Given the description of an element on the screen output the (x, y) to click on. 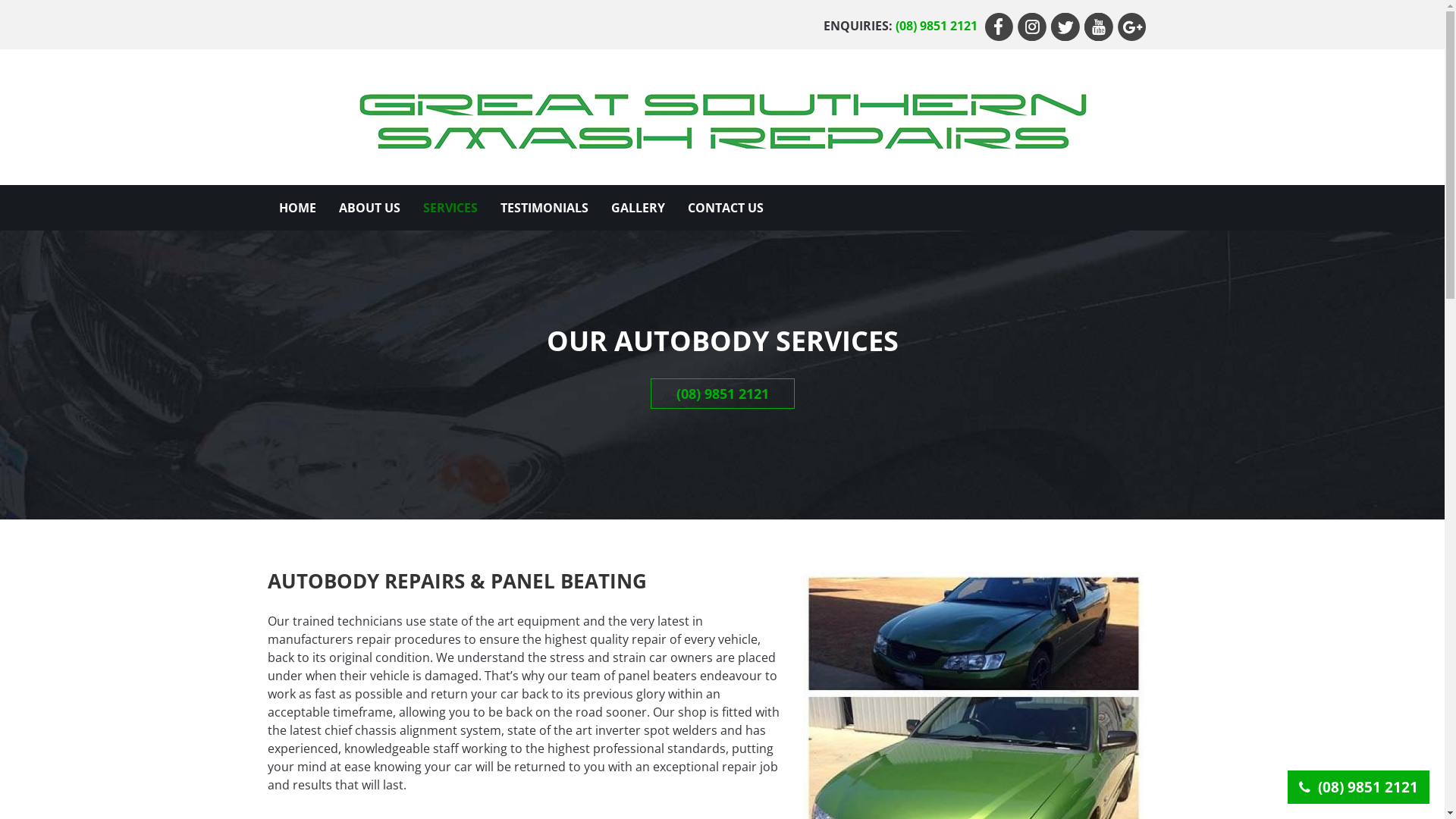
ABOUT US Element type: text (369, 207)
(08) 9851 2121  Element type: text (938, 24)
TESTIMONIALS Element type: text (543, 207)
CONTACT US Element type: text (725, 207)
SERVICES Element type: text (449, 207)
HOME Element type: text (296, 207)
(08) 9851 2121 Element type: text (722, 392)
(08) 9851 2121 Element type: text (1358, 786)
GALLERY Element type: text (637, 207)
